Given the description of an element on the screen output the (x, y) to click on. 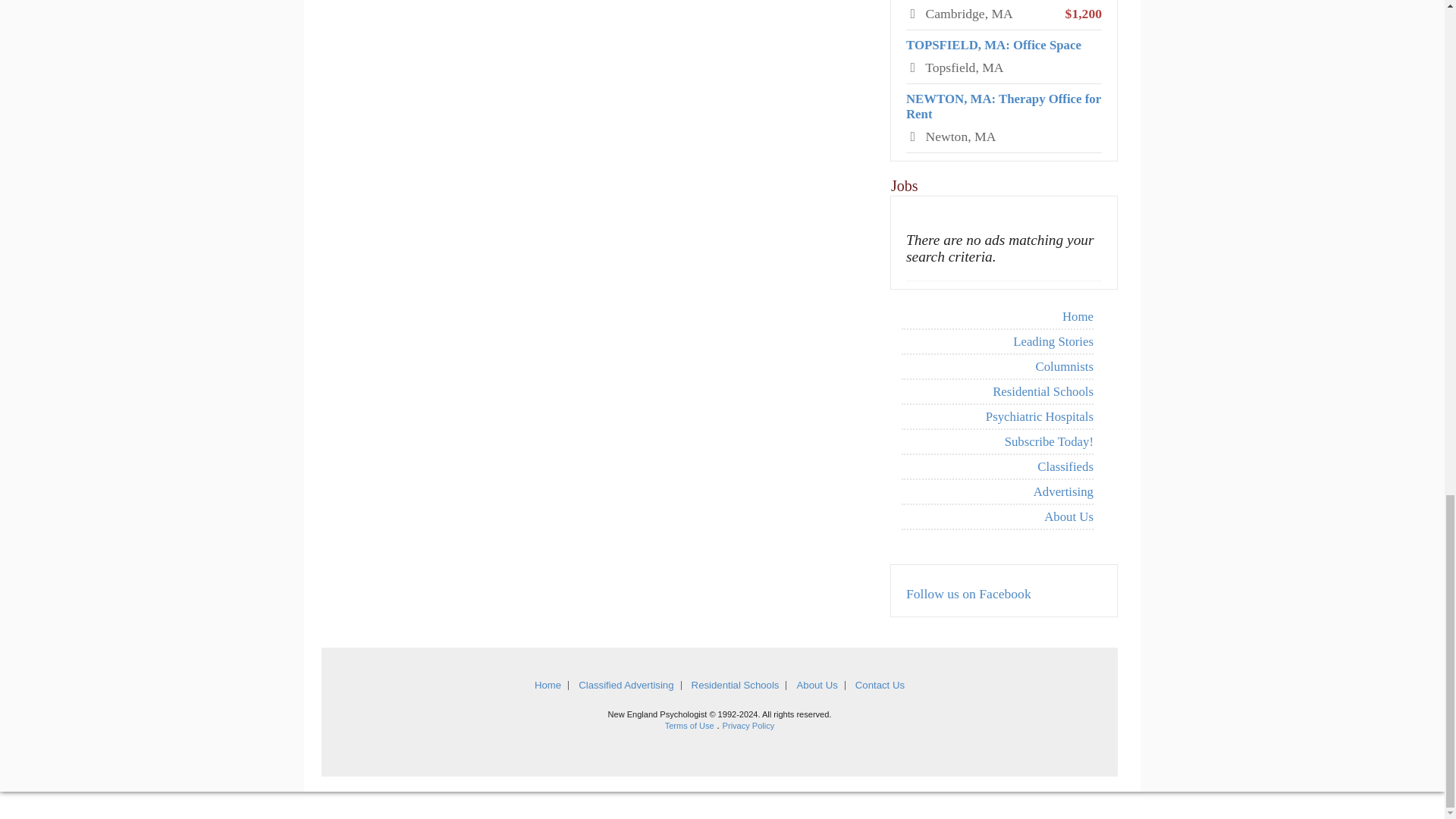
TOPSFIELD, MA: Office Space (993, 44)
NEWTON, MA: Therapy Office for Rent (1002, 106)
